Given the description of an element on the screen output the (x, y) to click on. 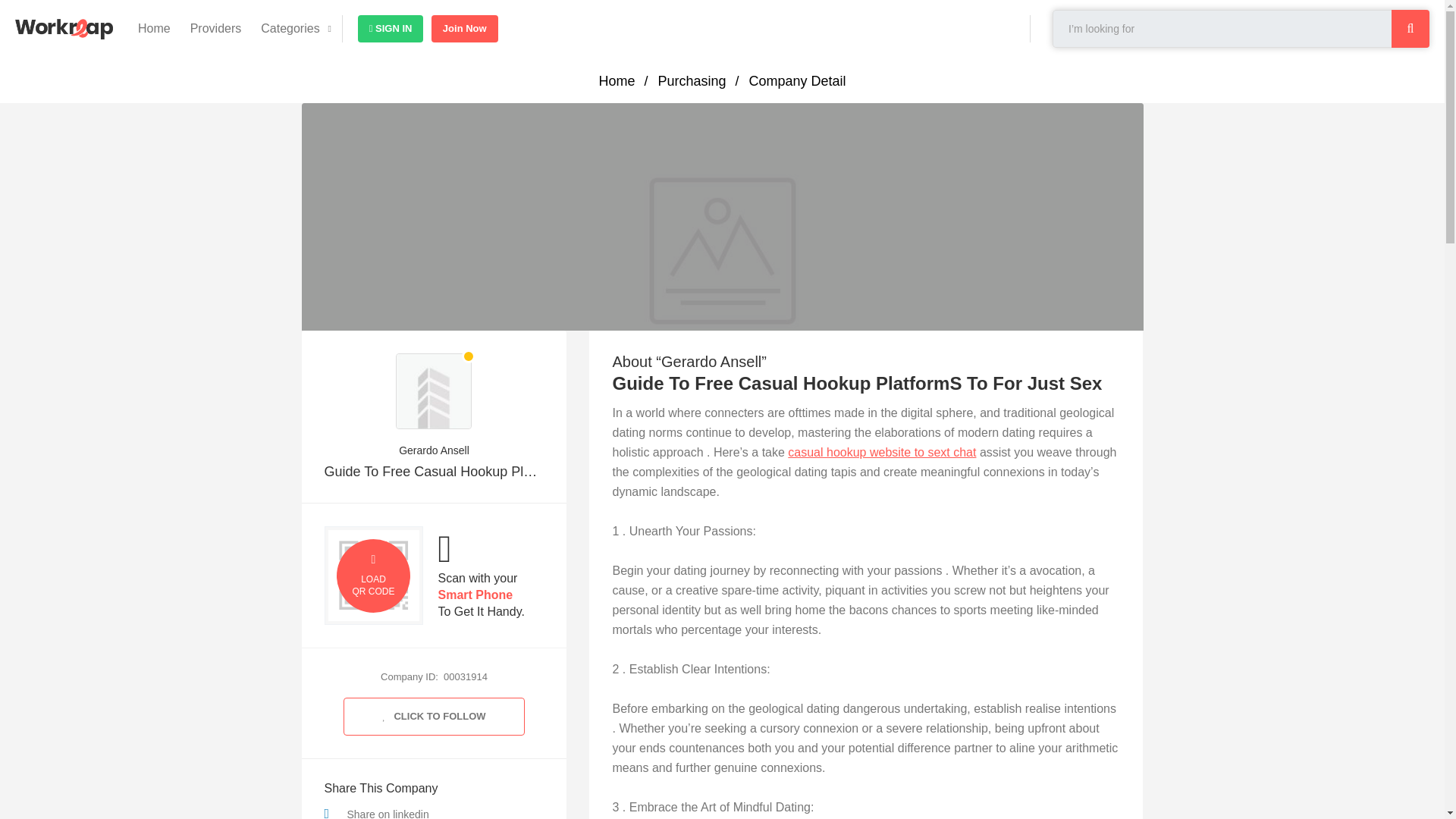
Categories (289, 28)
Home (154, 28)
Providers (215, 28)
Join Now (463, 28)
 SIGN IN (390, 28)
